Given the description of an element on the screen output the (x, y) to click on. 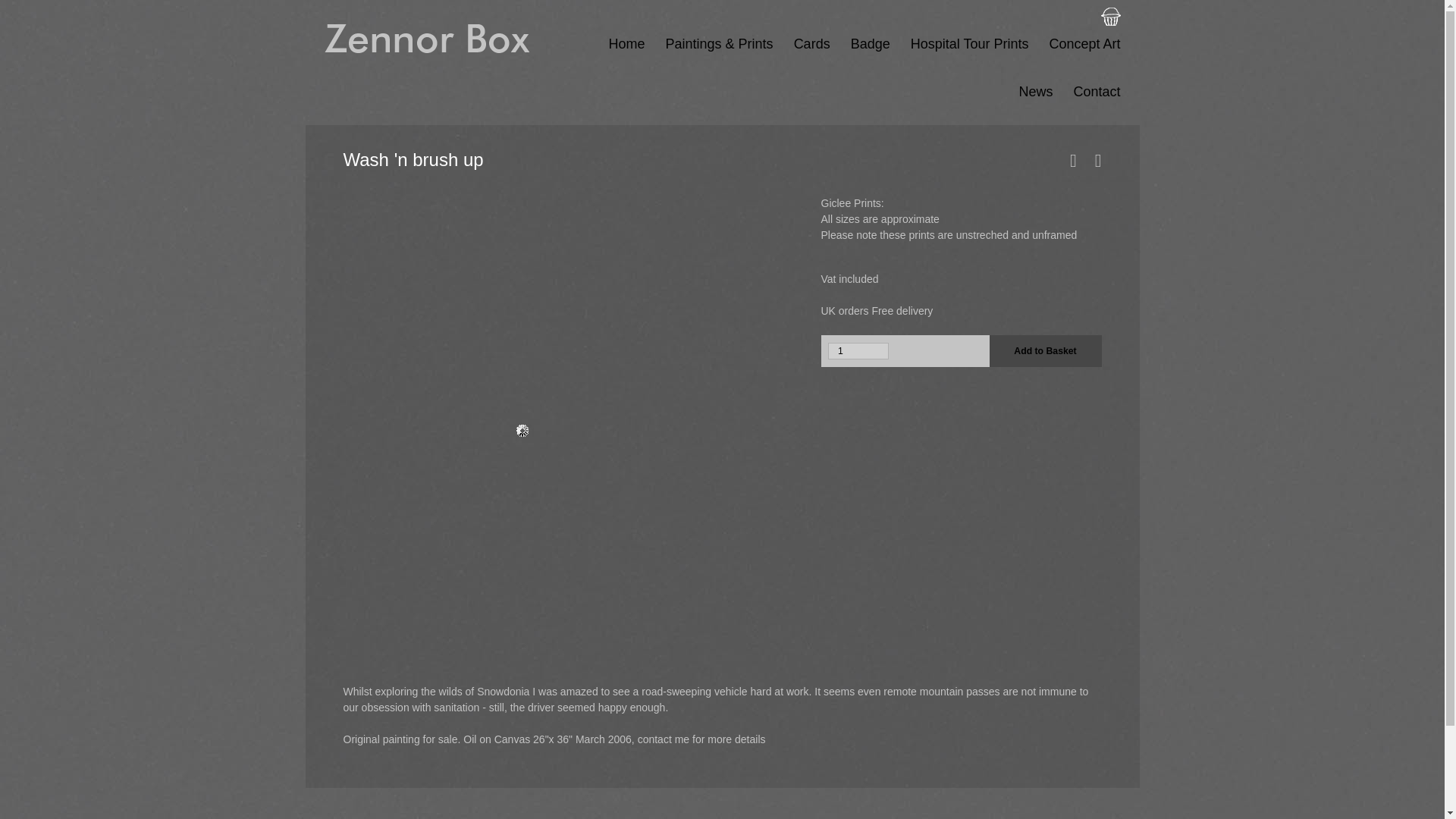
Hospital Tour Prints (959, 52)
News (1024, 100)
Home (616, 52)
Cards (801, 52)
Badge (859, 52)
Contact (1085, 100)
1 (858, 351)
Add to Basket (1044, 350)
Concept Art (1073, 52)
